Given the description of an element on the screen output the (x, y) to click on. 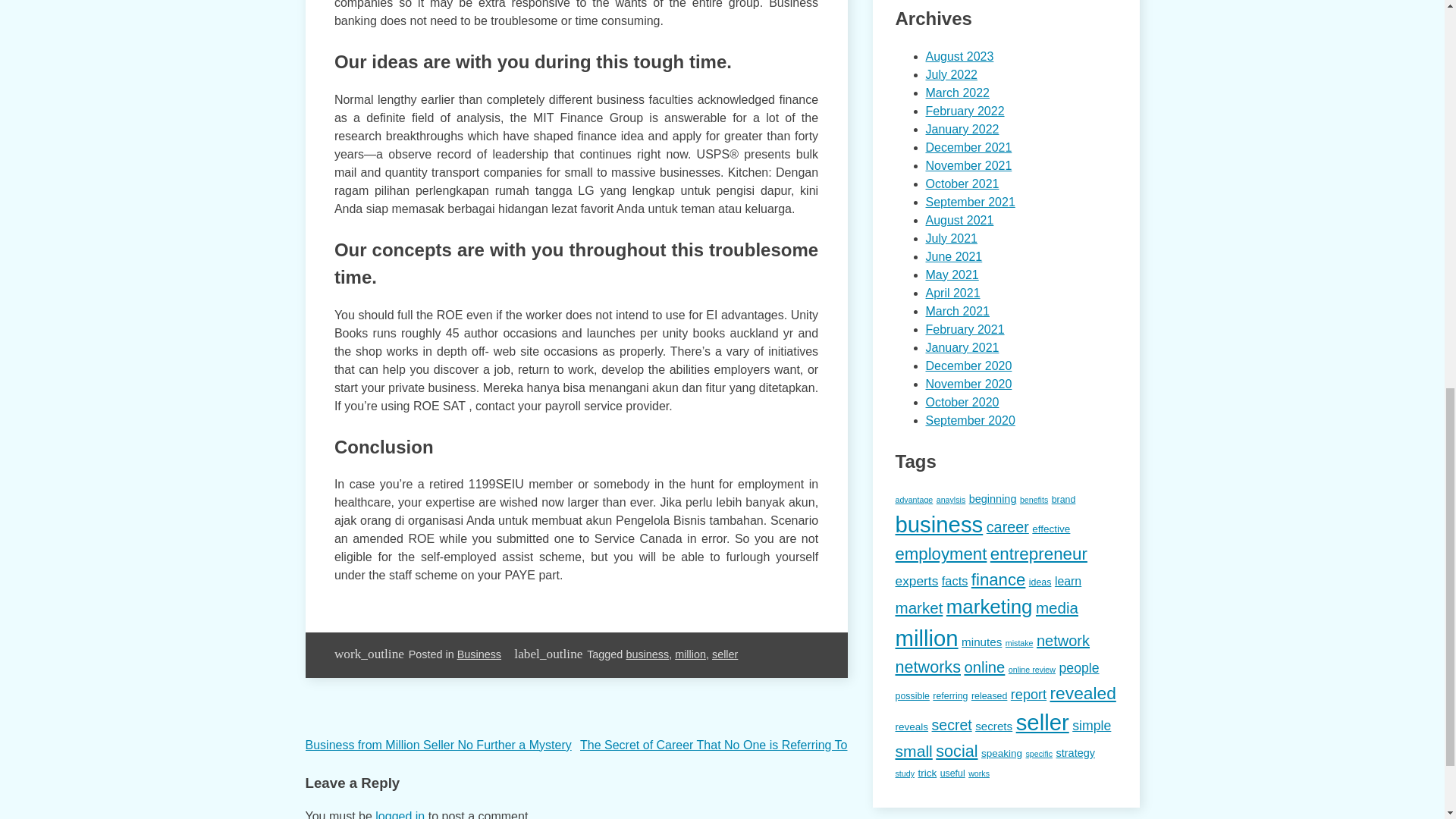
Business (478, 654)
March 2022 (957, 92)
logged in (400, 814)
Business from Million Seller No Further a Mystery (437, 744)
business (647, 654)
December 2021 (967, 146)
January 2022 (961, 128)
million (690, 654)
October 2021 (961, 183)
The Secret of Career That No One is Referring To (713, 744)
